Given the description of an element on the screen output the (x, y) to click on. 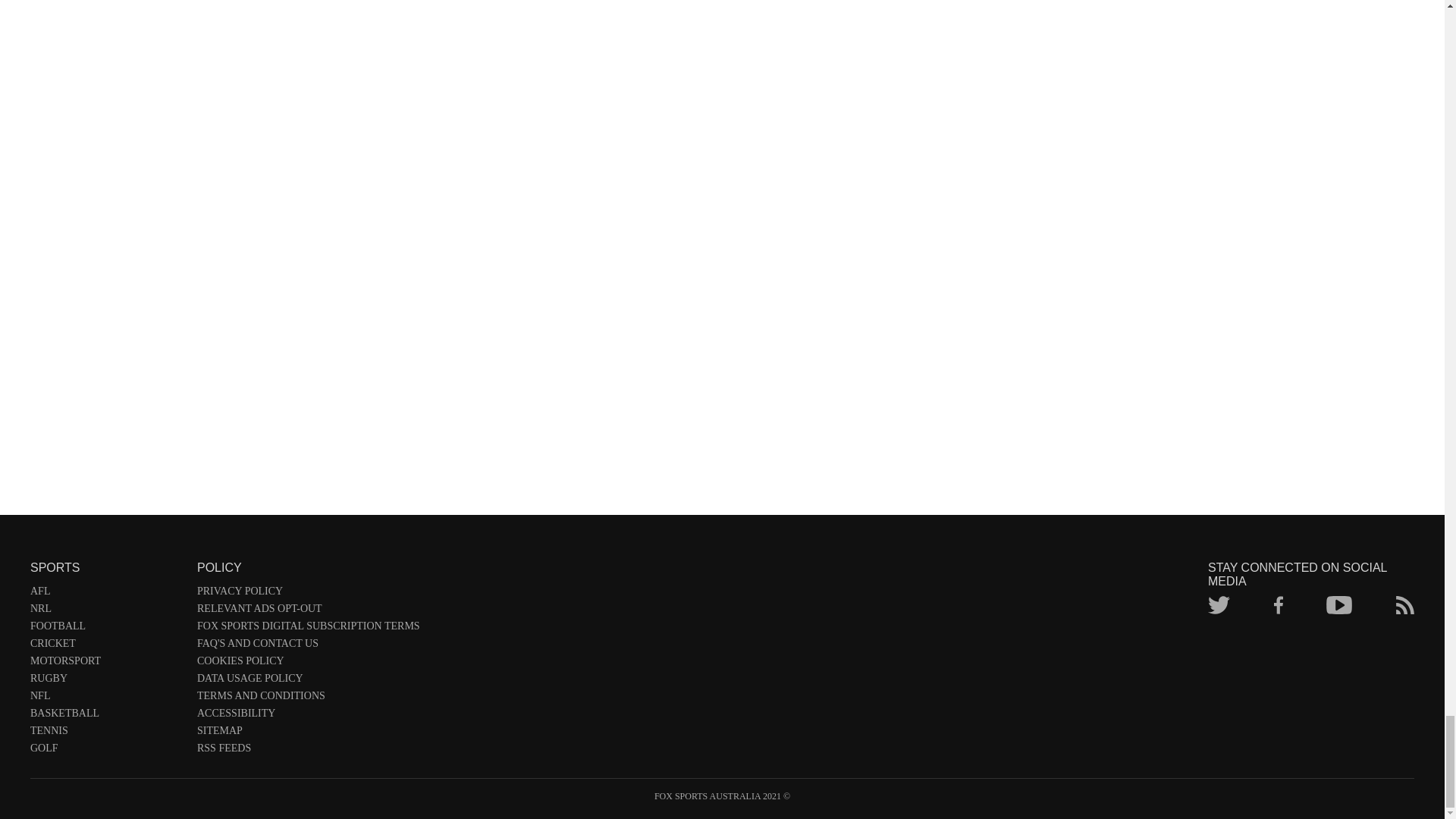
AFL (106, 593)
